Given the description of an element on the screen output the (x, y) to click on. 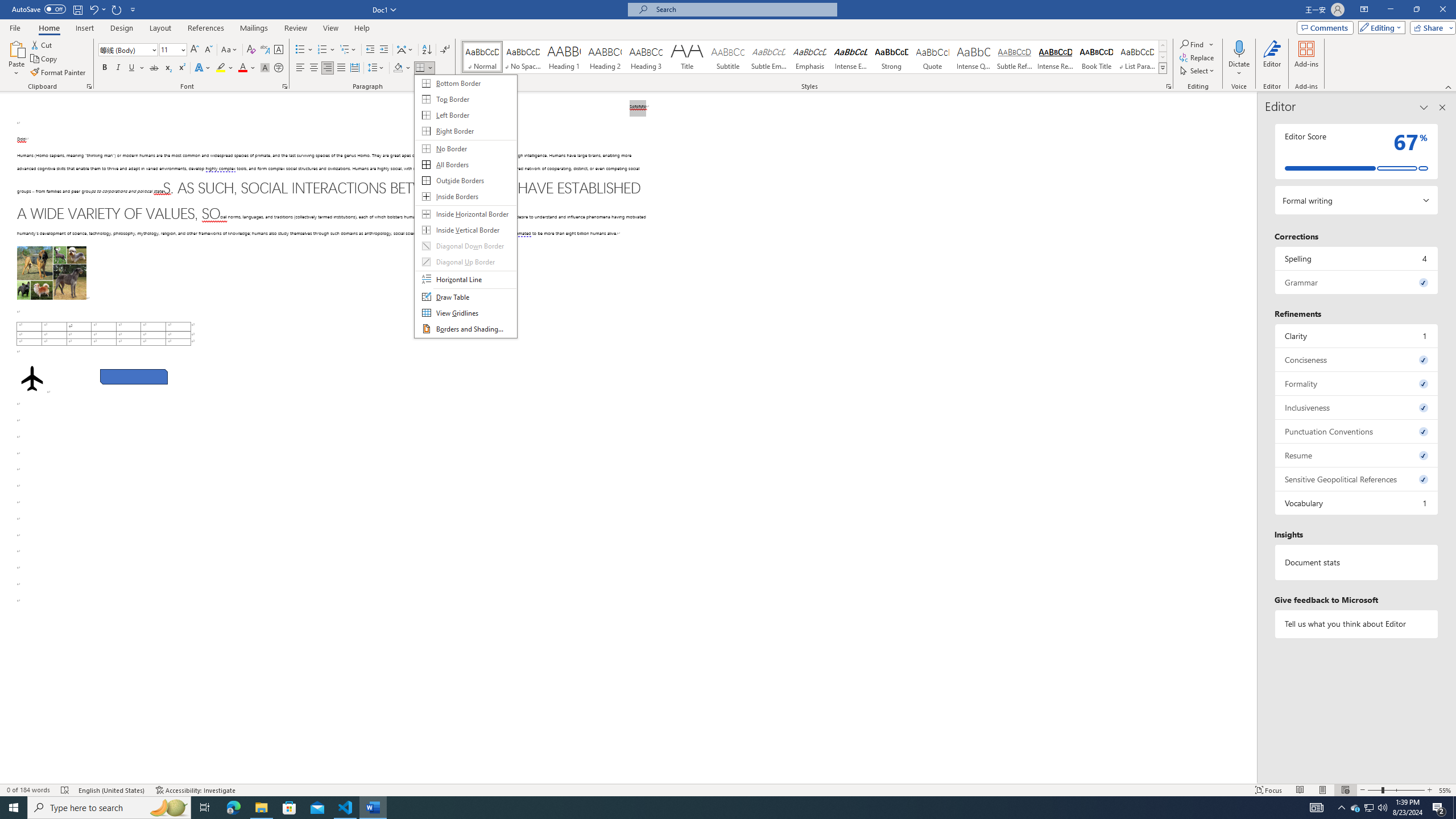
Zoom 55% (1445, 790)
Numbering (326, 49)
Resume, 0 issues. Press space or enter to review items. (1368, 807)
Increase Indent (1356, 454)
